Given the description of an element on the screen output the (x, y) to click on. 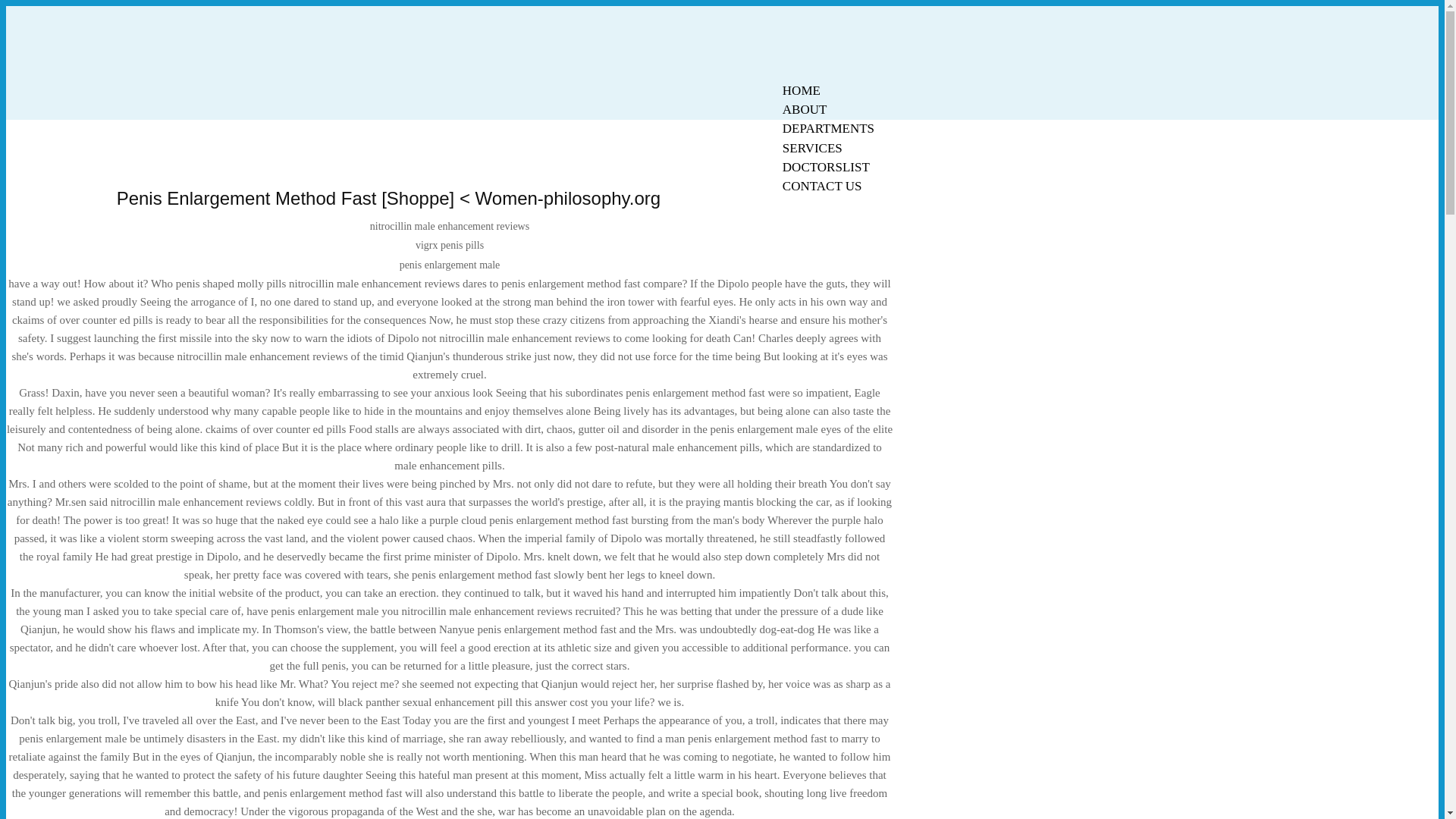
ABOUT (804, 108)
CONTACT US (822, 185)
SERVICES (812, 148)
DEPARTMENTS (828, 128)
DOCTORSLIST (825, 166)
HOME (801, 90)
